Given the description of an element on the screen output the (x, y) to click on. 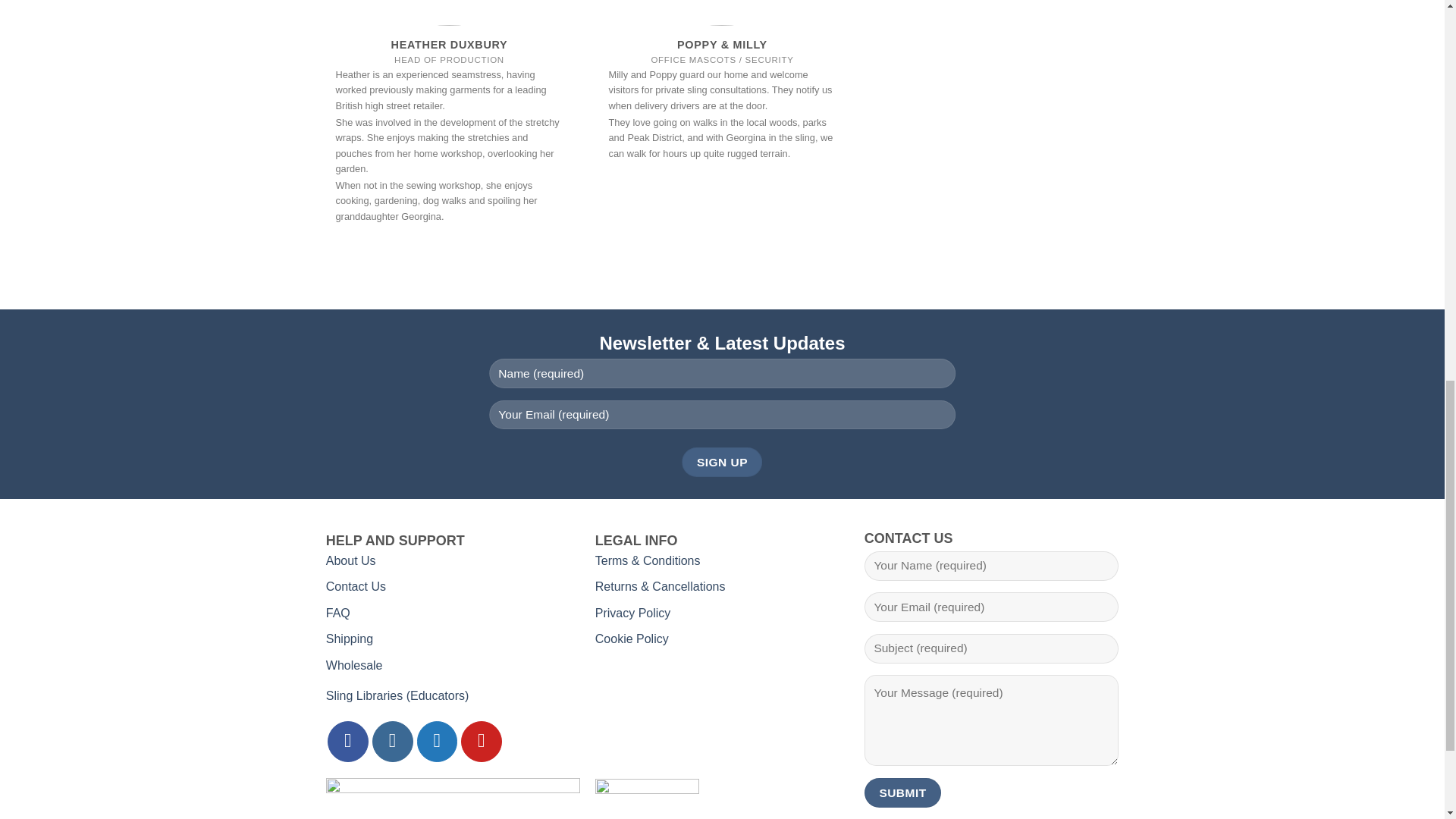
Sign Up (721, 461)
Contact Us (355, 585)
Follow on Twitter (437, 741)
Wholesale (354, 665)
About Us (350, 560)
Follow on Pinterest (481, 741)
FAQ (338, 612)
Follow on Facebook (347, 741)
Shipping (349, 638)
Follow on Instagram (392, 741)
Submit (902, 792)
Sign Up (721, 461)
